Given the description of an element on the screen output the (x, y) to click on. 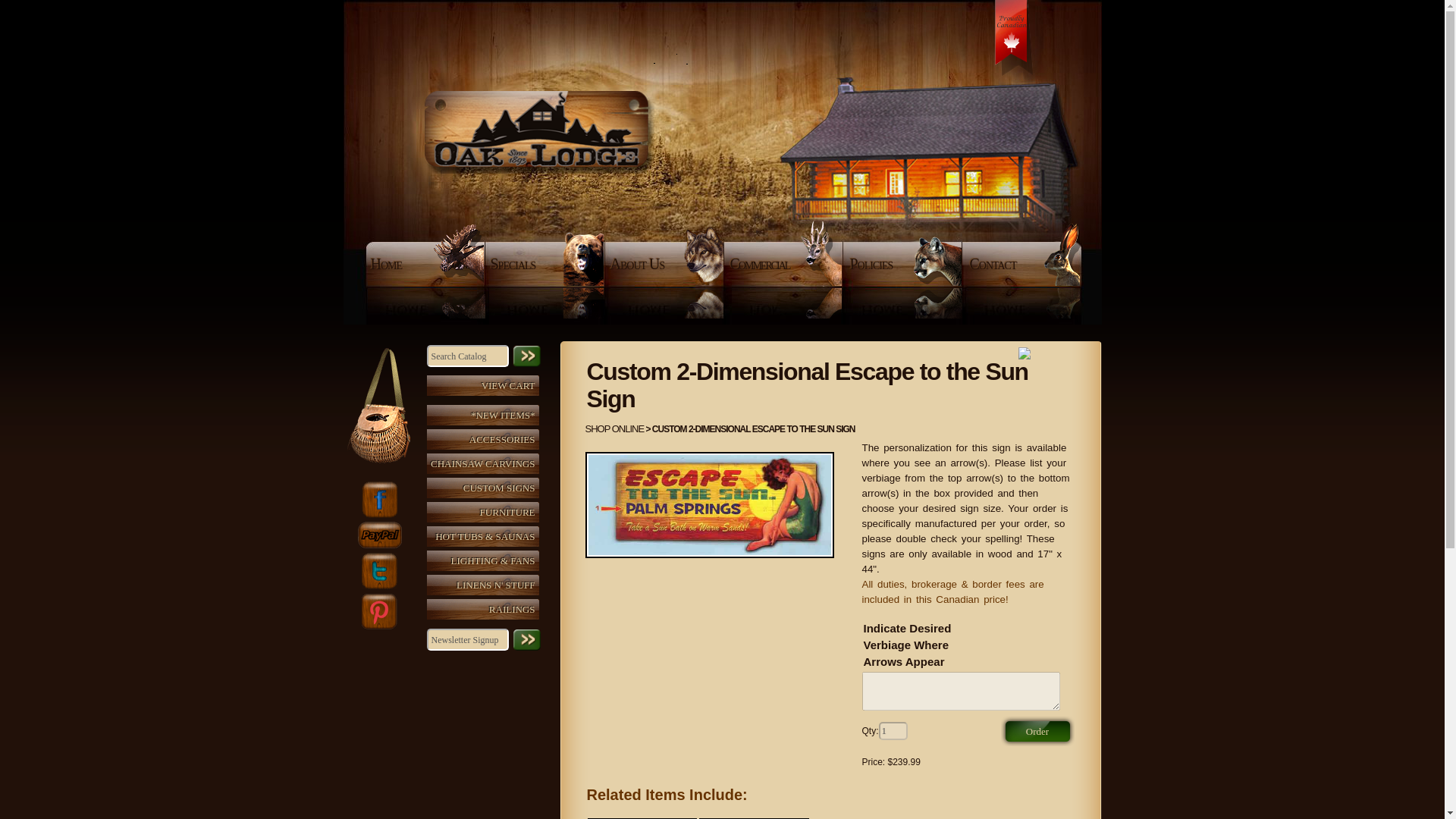
Twitter (378, 570)
Paypal (378, 534)
Commercial (784, 263)
Facebook (378, 499)
Home (424, 263)
Contact (1024, 263)
Specials (545, 263)
FURNITURE (486, 512)
CUSTOM SIGNS (486, 487)
Custom 2-Dimensional Escape to the Sun Sign (709, 504)
ACCESSORIES (486, 439)
1 (893, 730)
About Us (665, 263)
Order (1037, 730)
Policies (903, 263)
